Given the description of an element on the screen output the (x, y) to click on. 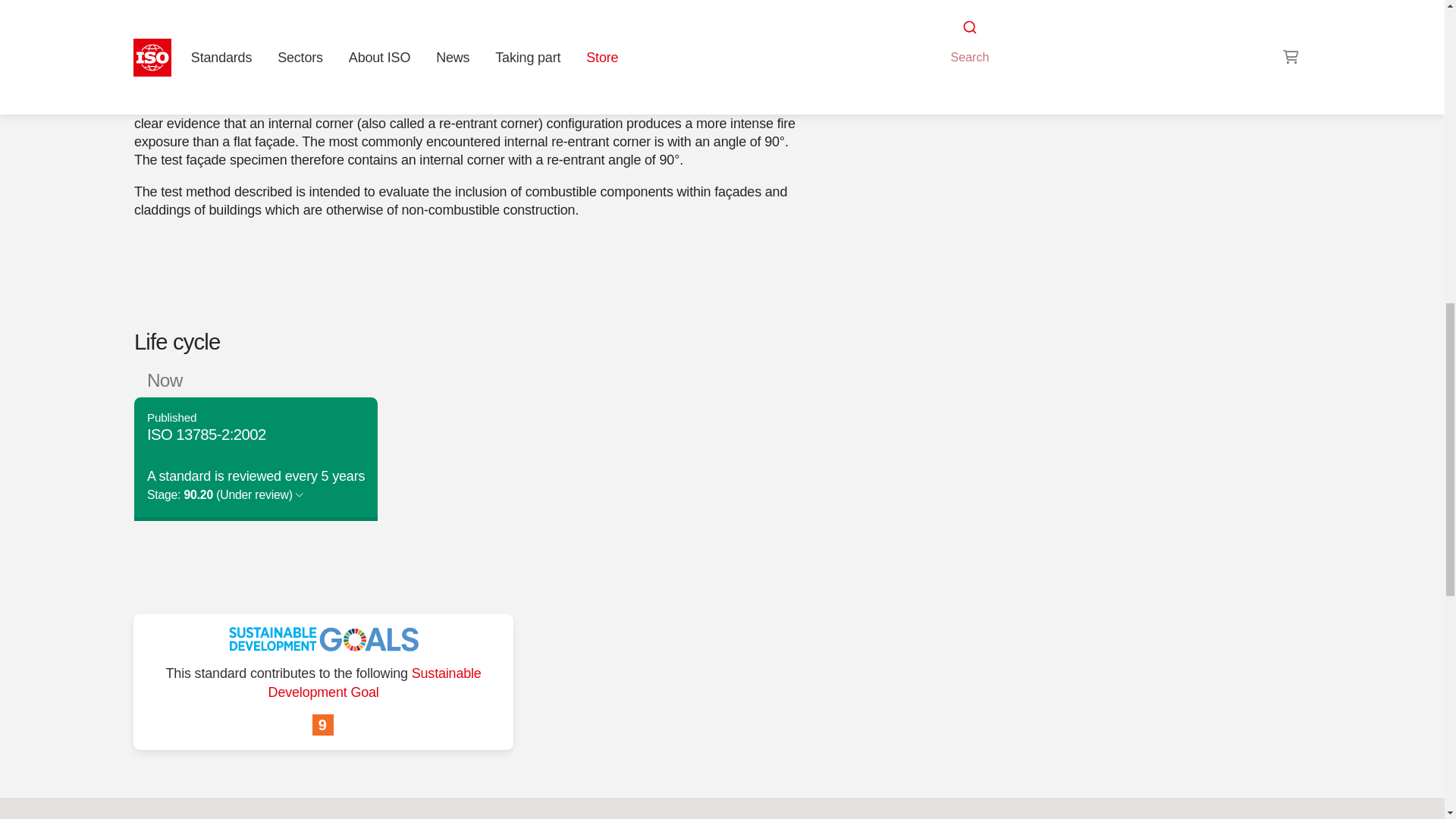
Fire initiation and growth (1117, 22)
Fire-resistance of building materials and elements (997, 40)
